Given the description of an element on the screen output the (x, y) to click on. 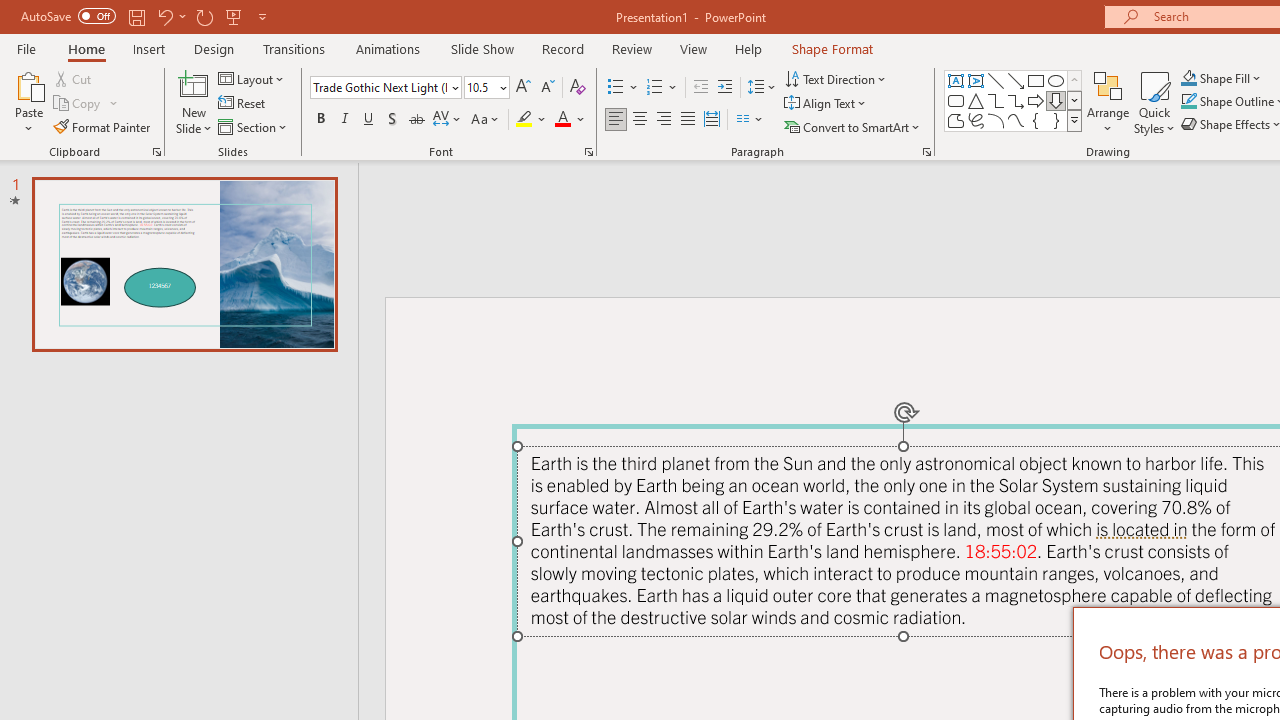
Oval (1055, 80)
Convert to SmartArt (853, 126)
Shadow (392, 119)
Font (385, 87)
Line Arrow (1016, 80)
Review (631, 48)
Decrease Font Size (547, 87)
Text Highlight Color (531, 119)
Left Brace (1035, 120)
Text Direction (836, 78)
Underline (369, 119)
Quick Styles (1154, 102)
Copy (78, 103)
Reset (243, 103)
Section (254, 126)
